Given the description of an element on the screen output the (x, y) to click on. 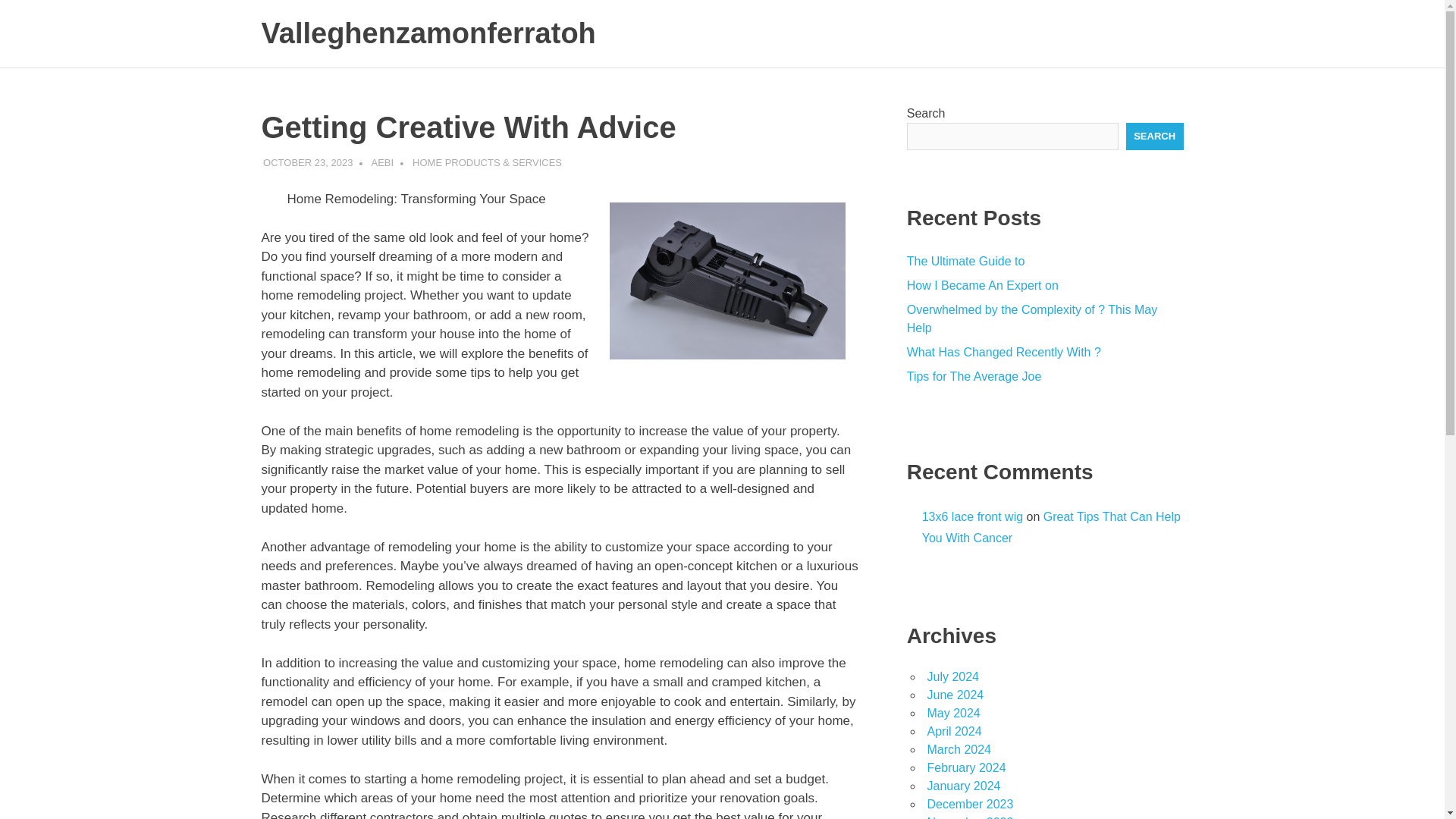
AEBI (382, 161)
November 2023 (969, 817)
January 2024 (963, 785)
How I Became An Expert on (982, 285)
May 2024 (952, 712)
February 2024 (966, 767)
View all posts by aebi (382, 161)
12:55 am (307, 161)
Valleghenzamonferratoh (427, 33)
April 2024 (953, 730)
July 2024 (952, 676)
13x6 lace front wig (972, 516)
Overwhelmed by the Complexity of ? This May Help (1032, 318)
Great Tips That Can Help You With Cancer (1050, 527)
OCTOBER 23, 2023 (307, 161)
